Given the description of an element on the screen output the (x, y) to click on. 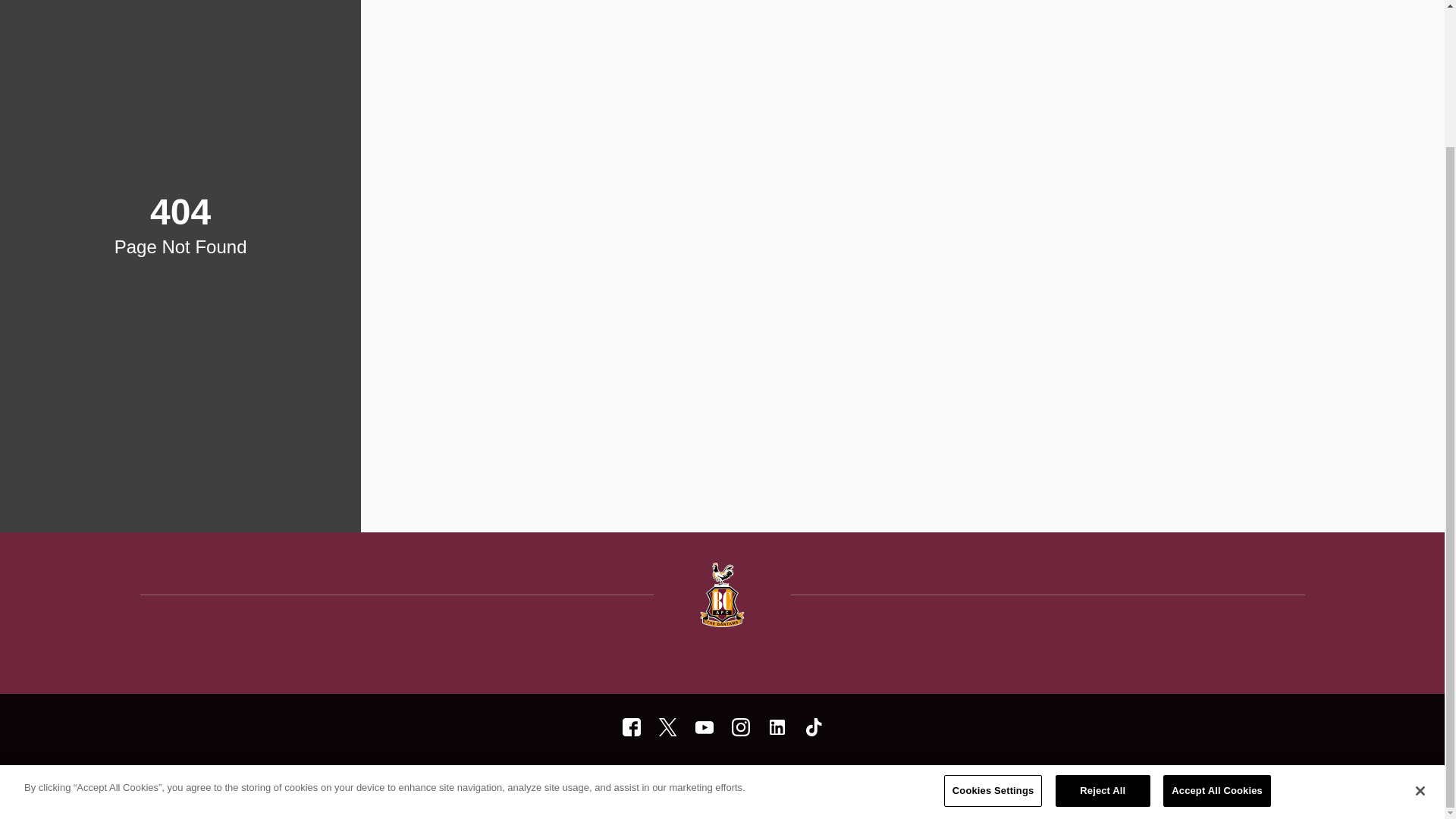
Company Details (796, 779)
Privacy Policy (648, 779)
Accessibility (719, 779)
officialbantams (630, 727)
Contact Us (872, 779)
Privacy Policy (648, 779)
Bradford City AFC (776, 727)
Reject All (1102, 622)
Accept All Cookies (1217, 622)
Terms of Use (575, 779)
